Given the description of an element on the screen output the (x, y) to click on. 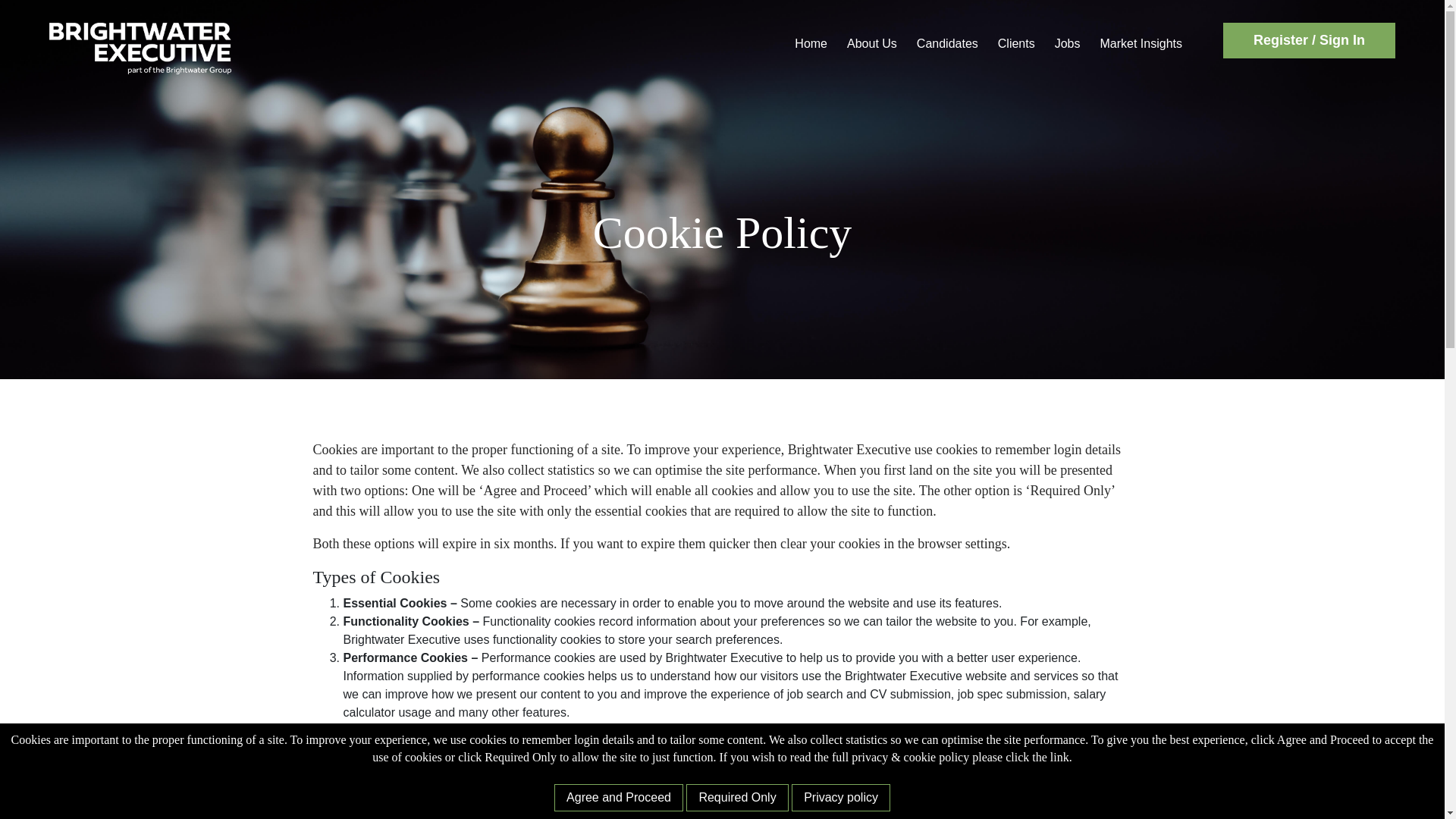
Clients (1015, 43)
Market Insights (1139, 43)
About Us (871, 43)
Agree and Proceed (618, 797)
Jobs (1066, 43)
Required Only (736, 797)
Home (810, 43)
Privacy policy (840, 797)
Candidates (947, 43)
Open image in original size (140, 47)
